Given the description of an element on the screen output the (x, y) to click on. 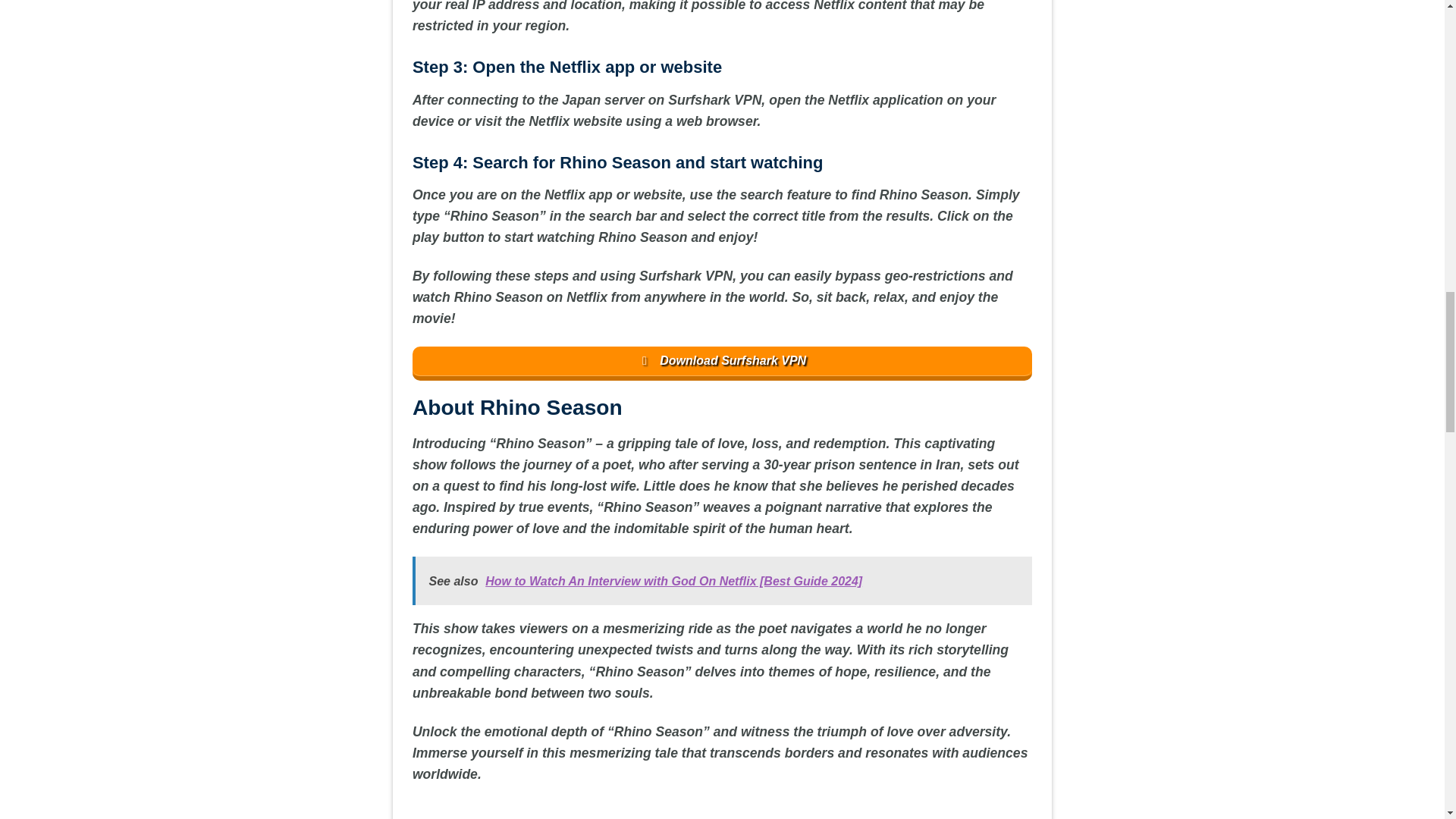
Download Surfshark VPN (722, 363)
